Given the description of an element on the screen output the (x, y) to click on. 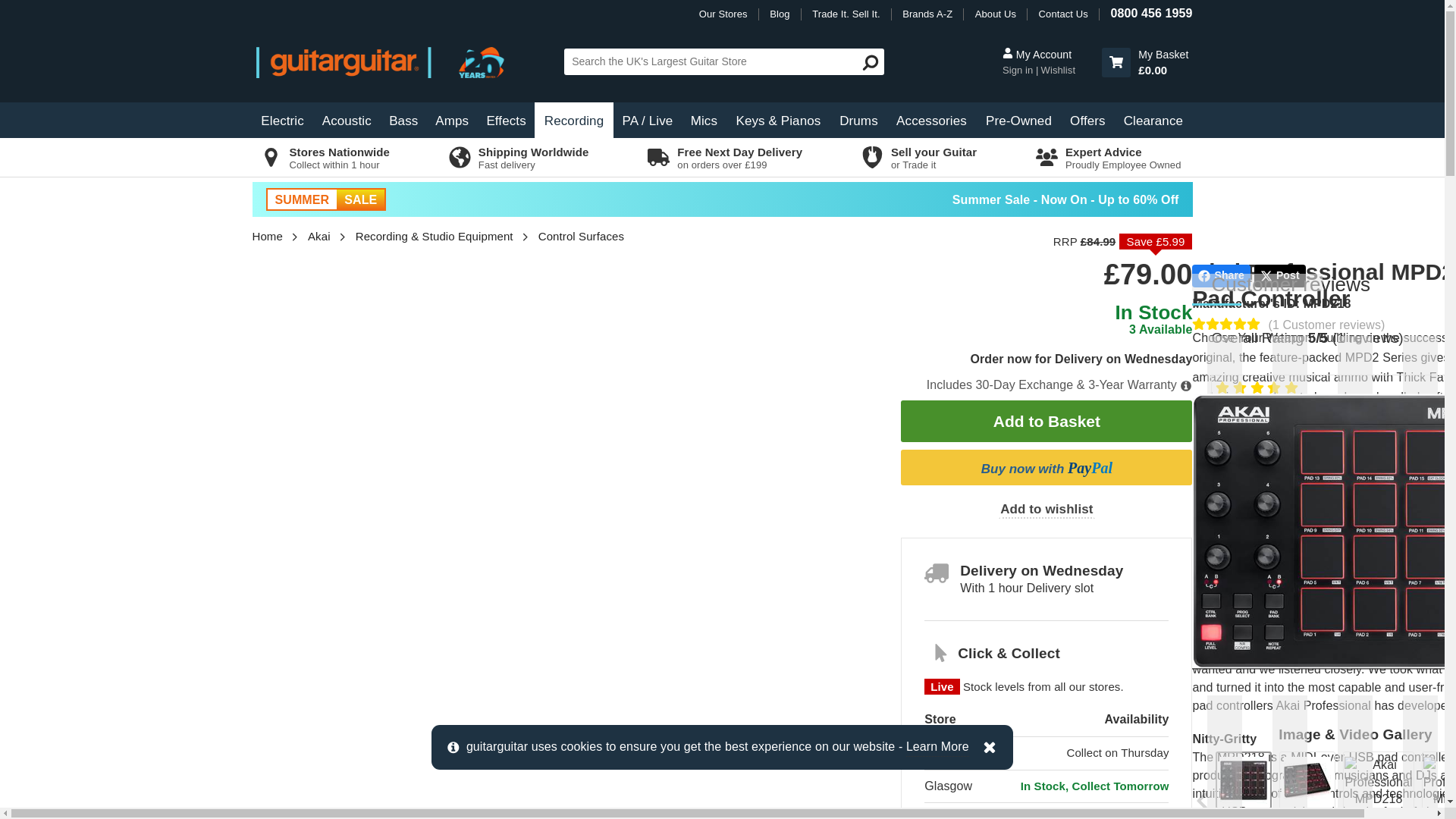
Trade It. Sell It. (845, 13)
0800 456 1959 (1150, 12)
My Account (1050, 55)
Brands A-Z (927, 13)
Our Stores (723, 13)
Our Guitar Shops (723, 13)
Electric (282, 120)
About Us (995, 13)
My Account (1019, 70)
Contact Us (1063, 13)
